Given the description of an element on the screen output the (x, y) to click on. 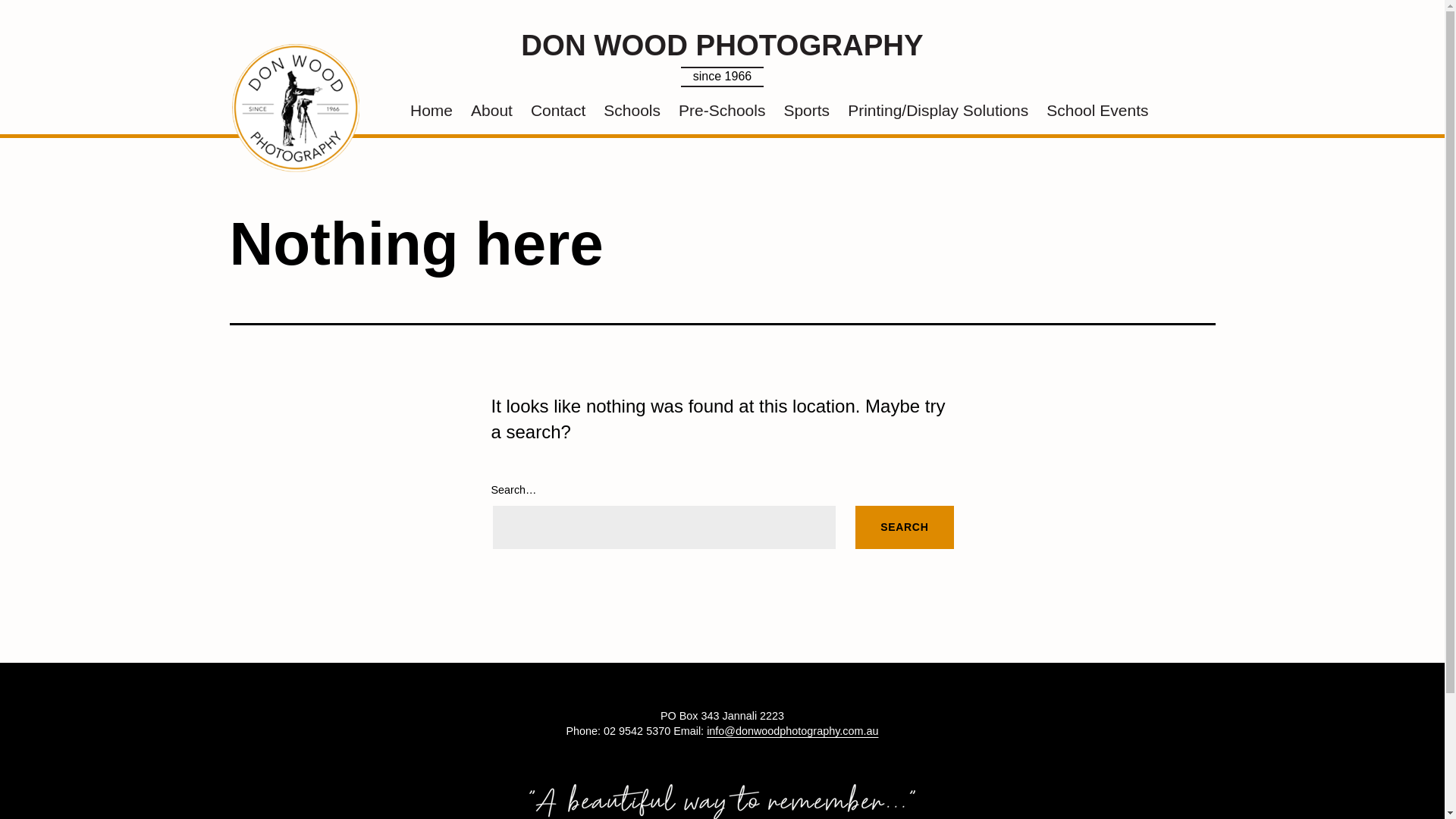
Contact Element type: text (557, 110)
Printing/Display Solutions Element type: text (937, 110)
info@donwoodphotography.com.au Element type: text (792, 730)
Search Element type: text (904, 527)
Pre-Schools Element type: text (721, 110)
About Element type: text (491, 110)
Home Element type: text (431, 110)
School Events Element type: text (1097, 110)
Schools Element type: text (631, 110)
Sports Element type: text (806, 110)
DON WOOD PHOTOGRAPHY Element type: text (721, 44)
